Given the description of an element on the screen output the (x, y) to click on. 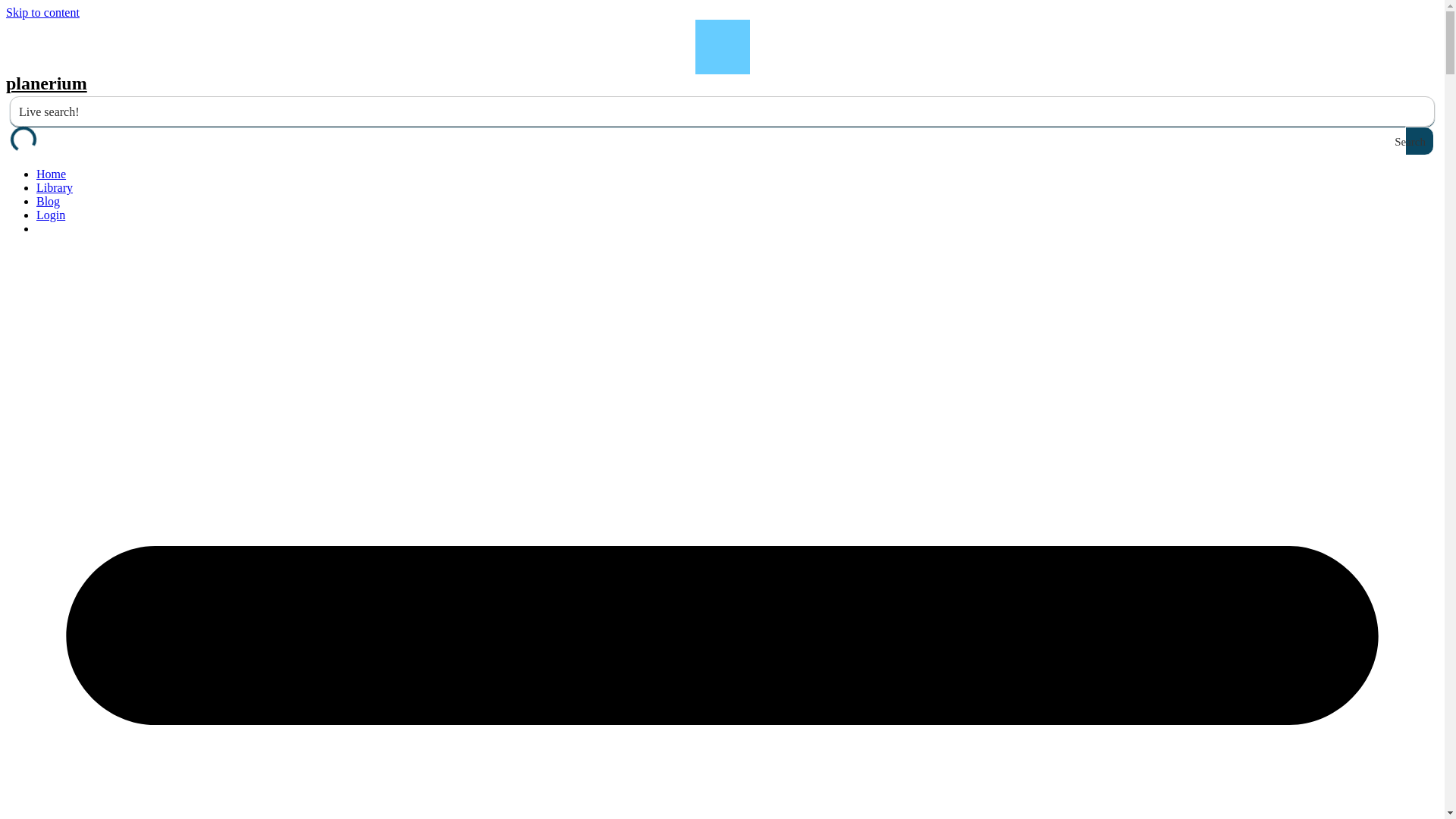
Skip to content (42, 11)
Blog Posts (47, 201)
Home (50, 173)
planerium (46, 83)
Login (50, 214)
Home (50, 173)
Library (54, 187)
Blog (47, 201)
Printables Library (54, 187)
